Given the description of an element on the screen output the (x, y) to click on. 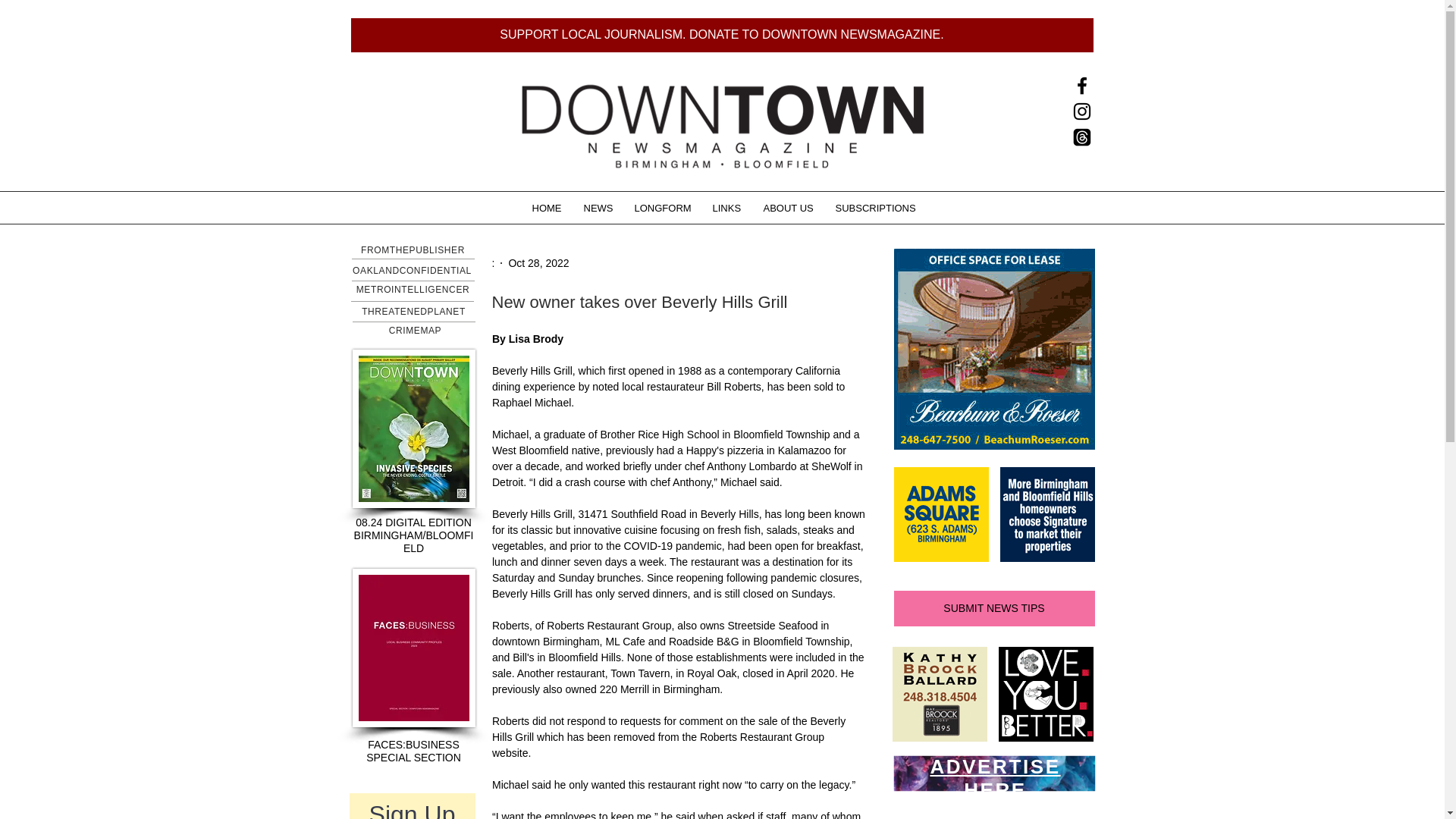
SUPPORT LOCAL JOURNALISM. DONATE TO DOWNTOWN NEWSMAGAZINE. (721, 35)
LONGFORM (662, 208)
HOME (545, 208)
Oct 28, 2022 (538, 262)
SUBSCRIPTIONS (873, 208)
